Given the description of an element on the screen output the (x, y) to click on. 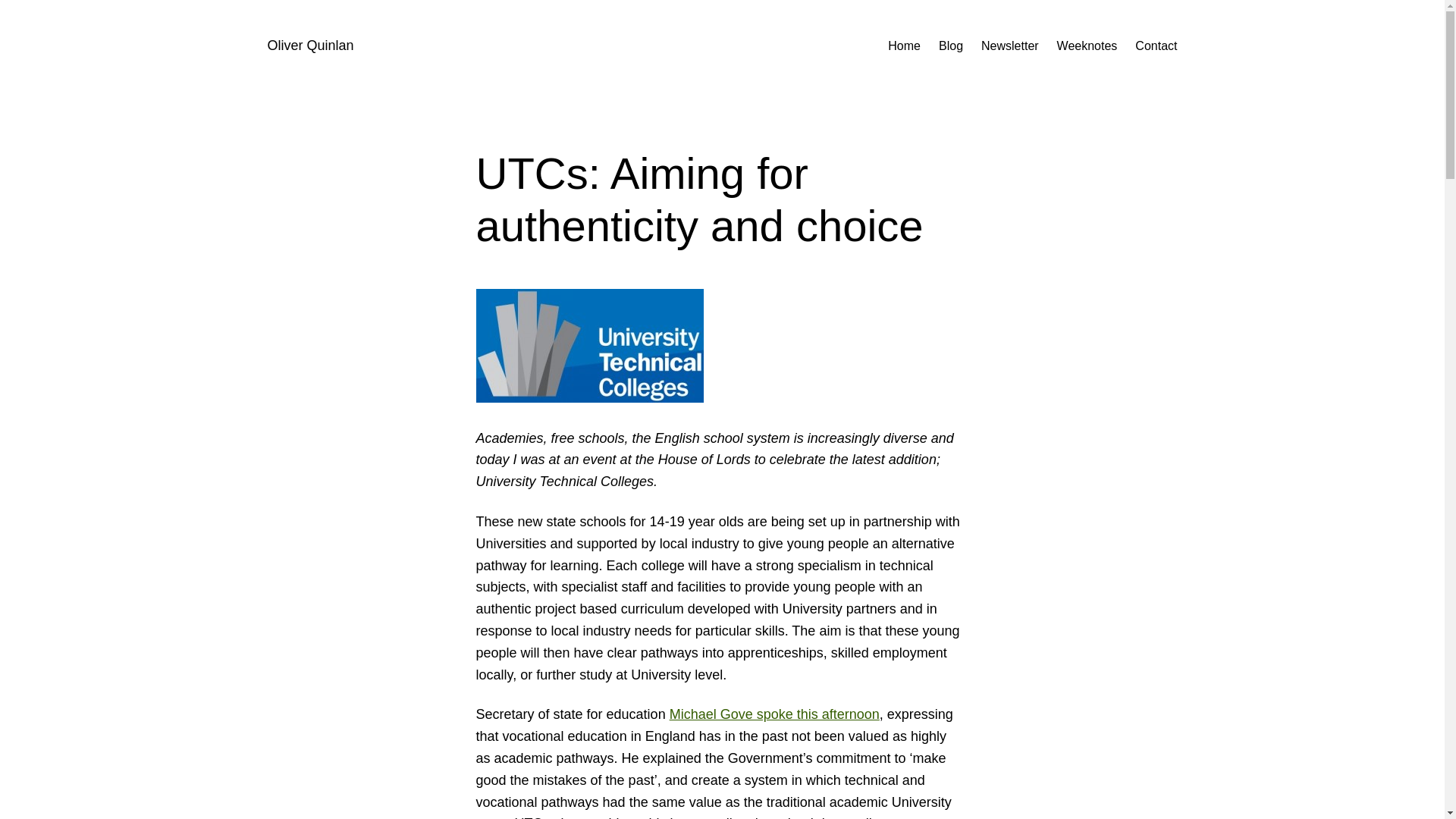
Newsletter (1010, 46)
Michael Gove spoke this afternoon (774, 713)
Screen Shot 2012-02-09 at 15.57.07 (589, 345)
Blog (950, 46)
Home (904, 46)
Oliver Quinlan (309, 45)
Weeknotes (1087, 46)
Contact (1155, 46)
